Given the description of an element on the screen output the (x, y) to click on. 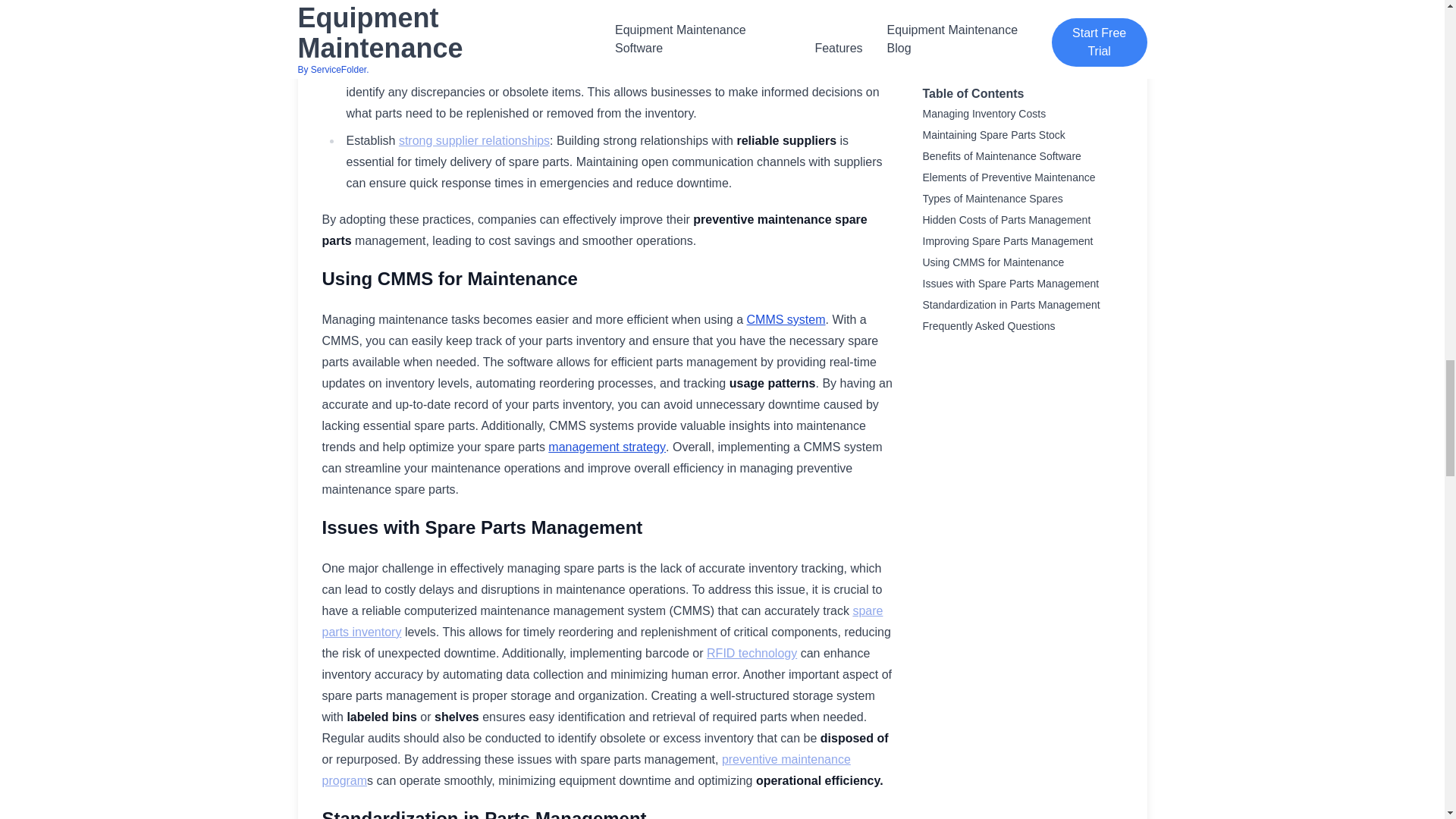
RFID technology (751, 653)
CMMS system (785, 318)
centralized inventory system (492, 3)
preventive maintenance program (585, 769)
spare parts inventory (601, 621)
strong supplier relationships (474, 140)
regular audits (431, 70)
management strategy (606, 446)
